Given the description of an element on the screen output the (x, y) to click on. 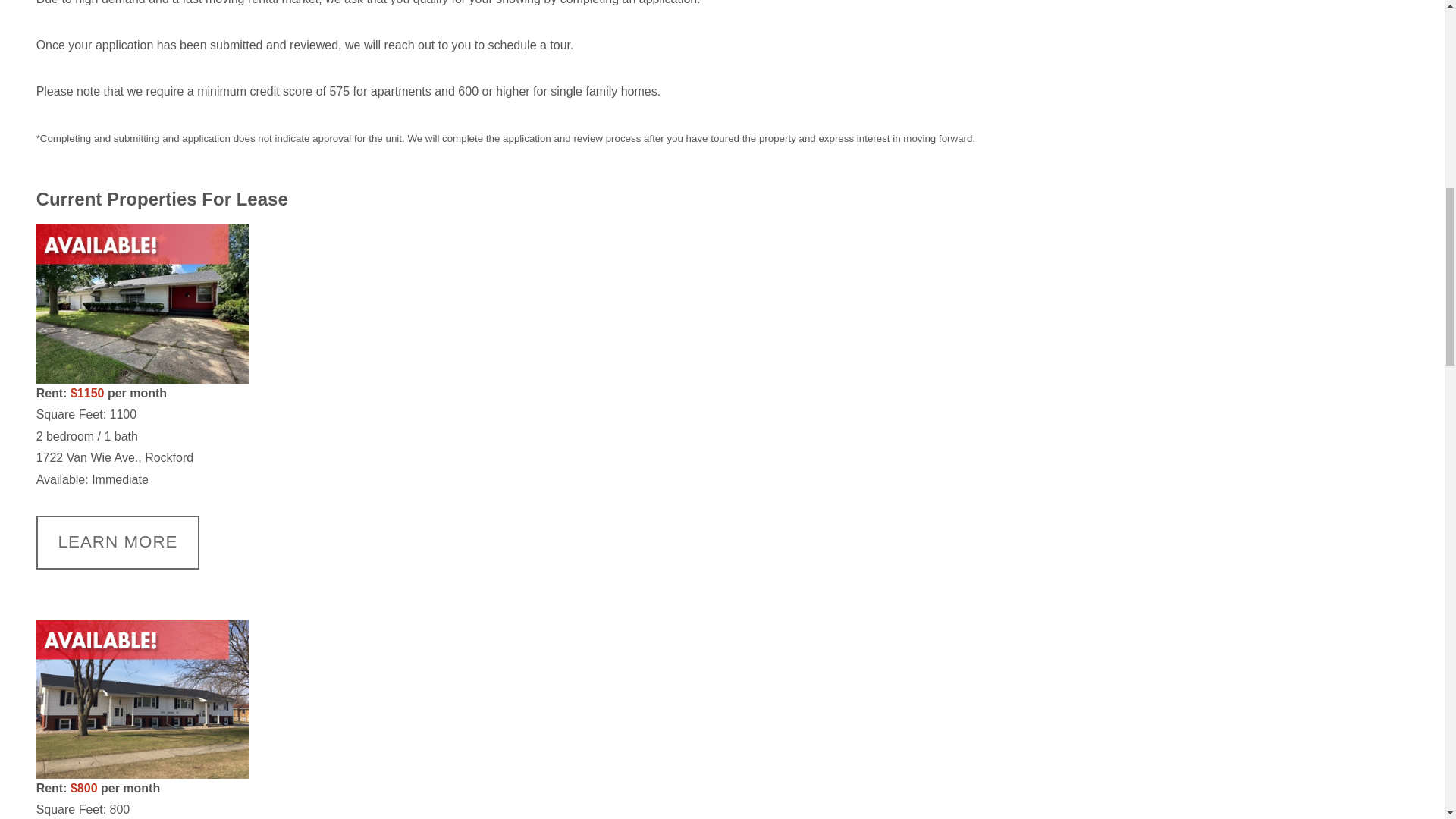
LEARN MORE (118, 542)
